Given the description of an element on the screen output the (x, y) to click on. 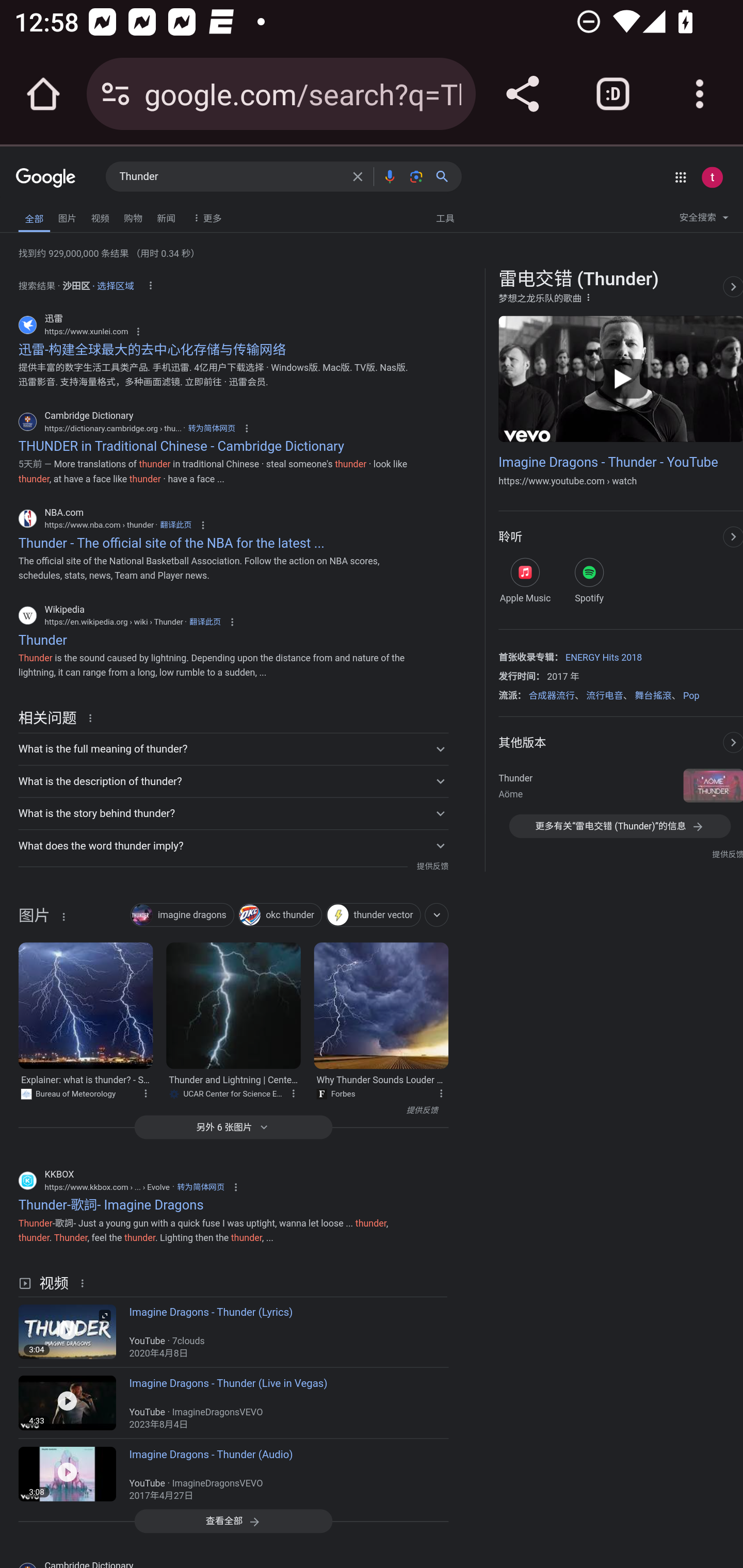
Open the home page (43, 93)
Connection is secure (115, 93)
Share (522, 93)
Switch or close tabs (612, 93)
Customize and control Google Chrome (699, 93)
清除 (357, 176)
按语音搜索 (389, 176)
按图搜索 (415, 176)
搜索 (446, 176)
Google 应用 (680, 176)
Google 账号： test appium (testappium002@gmail.com) (712, 176)
Google (45, 178)
Thunder (229, 177)
无障碍功能反馈 (42, 212)
图片 (67, 216)
视频 (99, 216)
购物 (133, 216)
新闻 (166, 216)
更多 (205, 216)
安全搜索 (703, 219)
工具 (444, 216)
选择区域 (115, 282)
位置信息使用方式 (149, 285)
转为简体网页 (211, 427)
翻译此页 (175, 525)
翻译此页 (204, 622)
关于这条结果的详细信息 (93, 717)
What is the full meaning of thunder? (232, 748)
What is the description of thunder? (232, 781)
What is the story behind thunder? (232, 812)
What does the word thunder imply? (232, 844)
提供反馈 (432, 865)
图片 (33, 918)
imagine dragons (181, 915)
okc thunder (279, 915)
thunder vector (372, 915)
按功能过滤 (436, 914)
关于这条结果的详细信息 (62, 915)
Why Thunder Sounds Louder When It's Cooler Outside (380, 1005)
关于这条结果的详细信息 (148, 1092)
关于这条结果的详细信息 (296, 1092)
关于这条结果的详细信息 (444, 1092)
提供反馈 (227, 1110)
另外 6 张图片 (232, 1126)
转为简体网页 (200, 1186)
关于这条结果的详细信息 (85, 1281)
查看全部 (233, 1520)
